Given the description of an element on the screen output the (x, y) to click on. 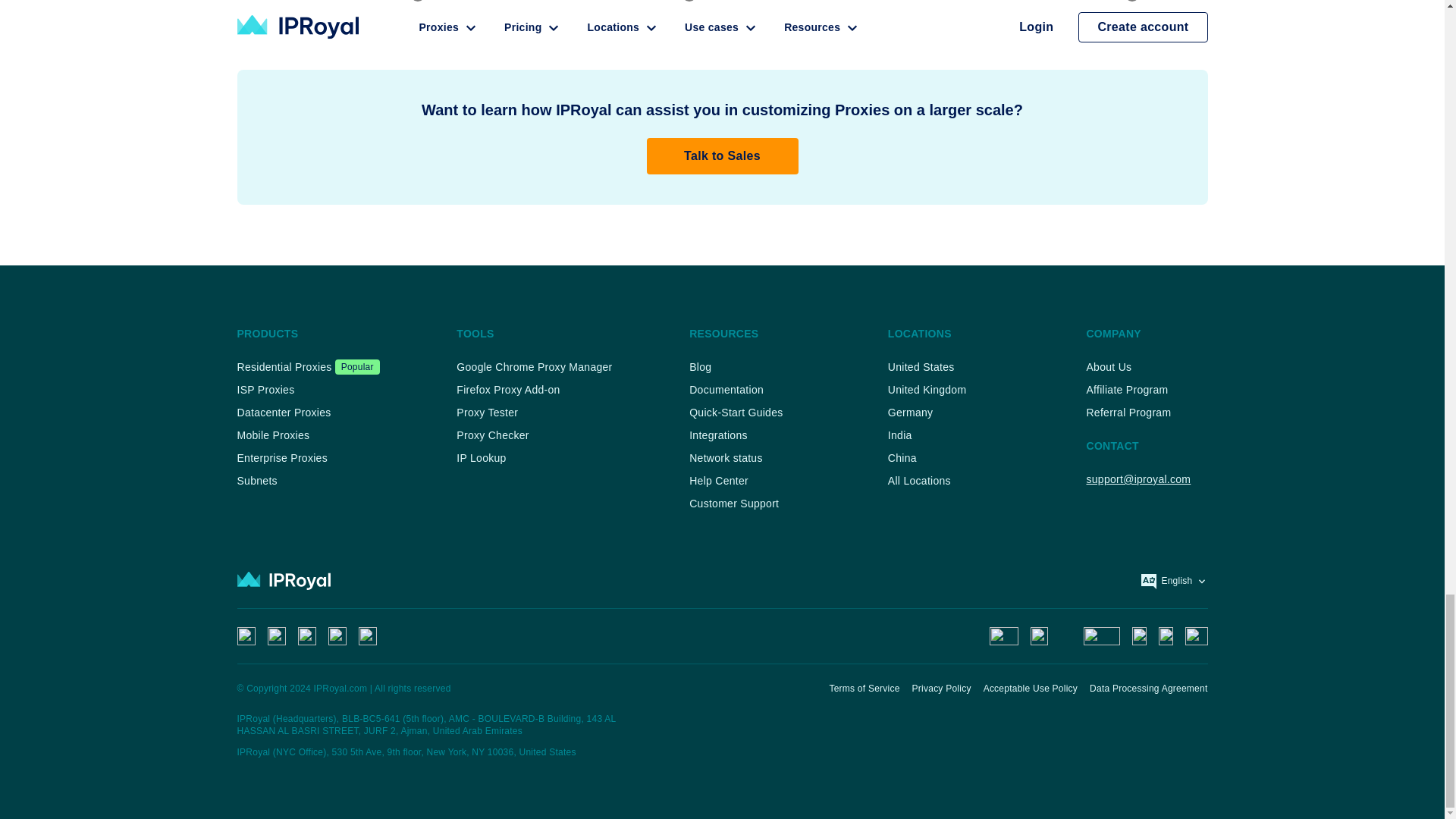
Linkedin (336, 636)
Discord (244, 636)
IPRoyal (282, 580)
Facebook (306, 636)
YouTube (366, 636)
